Given the description of an element on the screen output the (x, y) to click on. 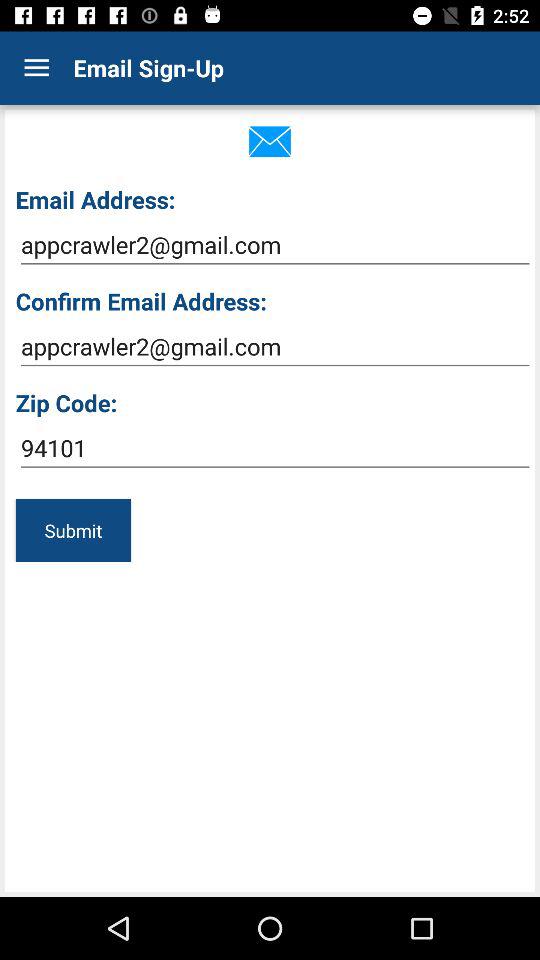
press 94101 (274, 448)
